Given the description of an element on the screen output the (x, y) to click on. 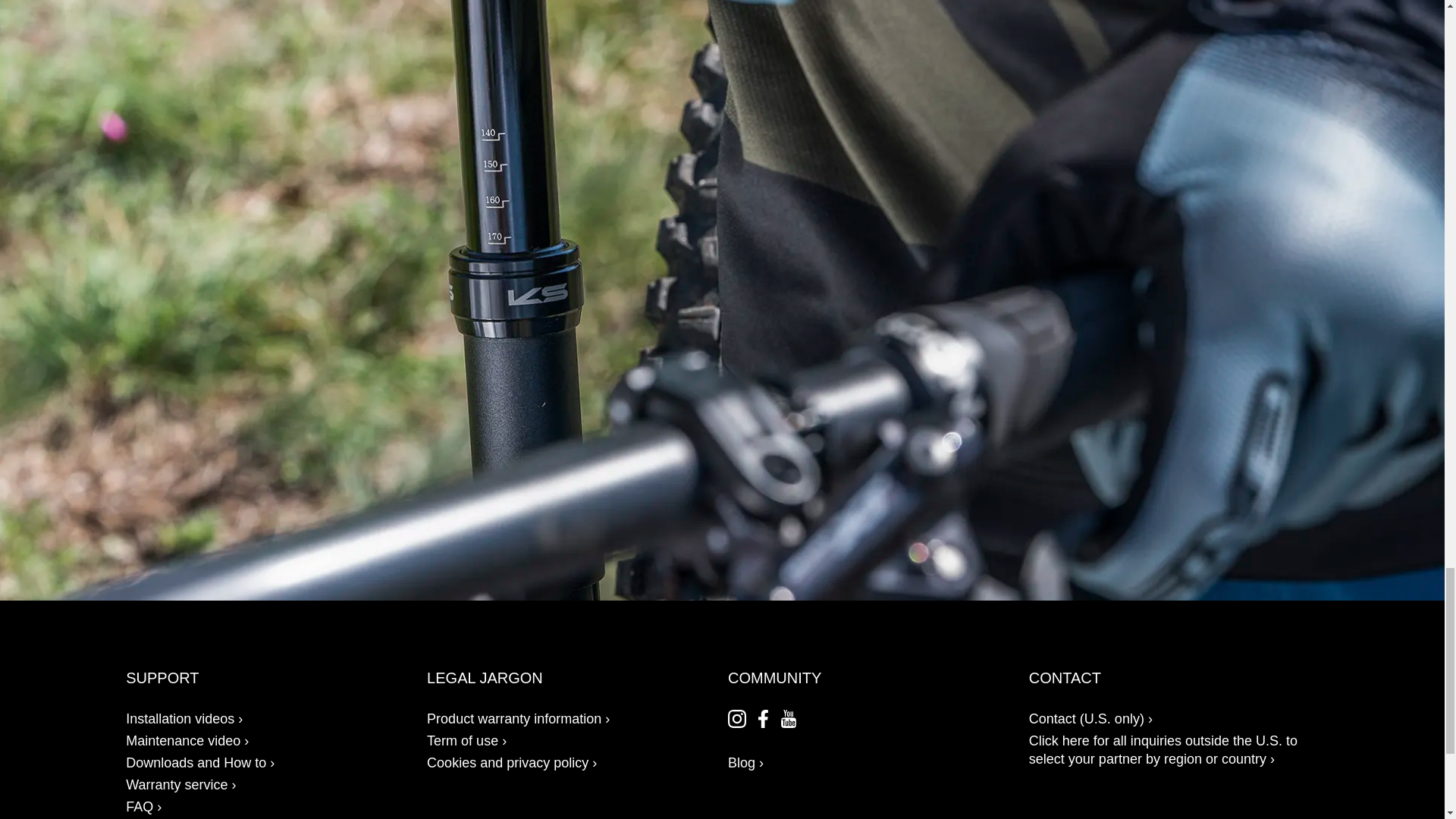
Instagram (736, 719)
YouTube (787, 719)
Facebook (762, 719)
